Given the description of an element on the screen output the (x, y) to click on. 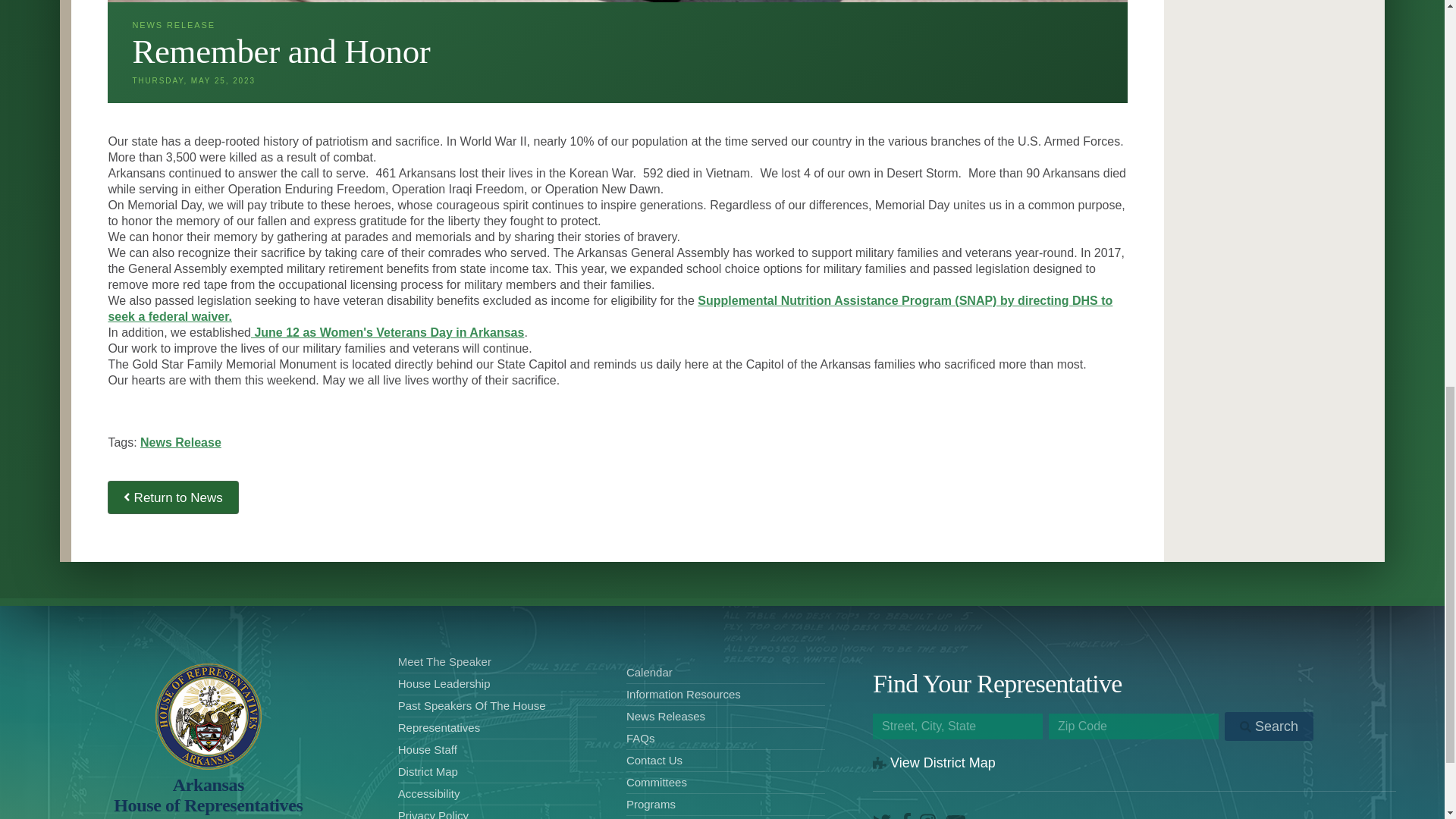
Back to News (207, 794)
News Release (172, 497)
View District Map (180, 441)
June 12 as Women's Veterans Day in Arkansas (933, 762)
Return to News (387, 332)
